Given the description of an element on the screen output the (x, y) to click on. 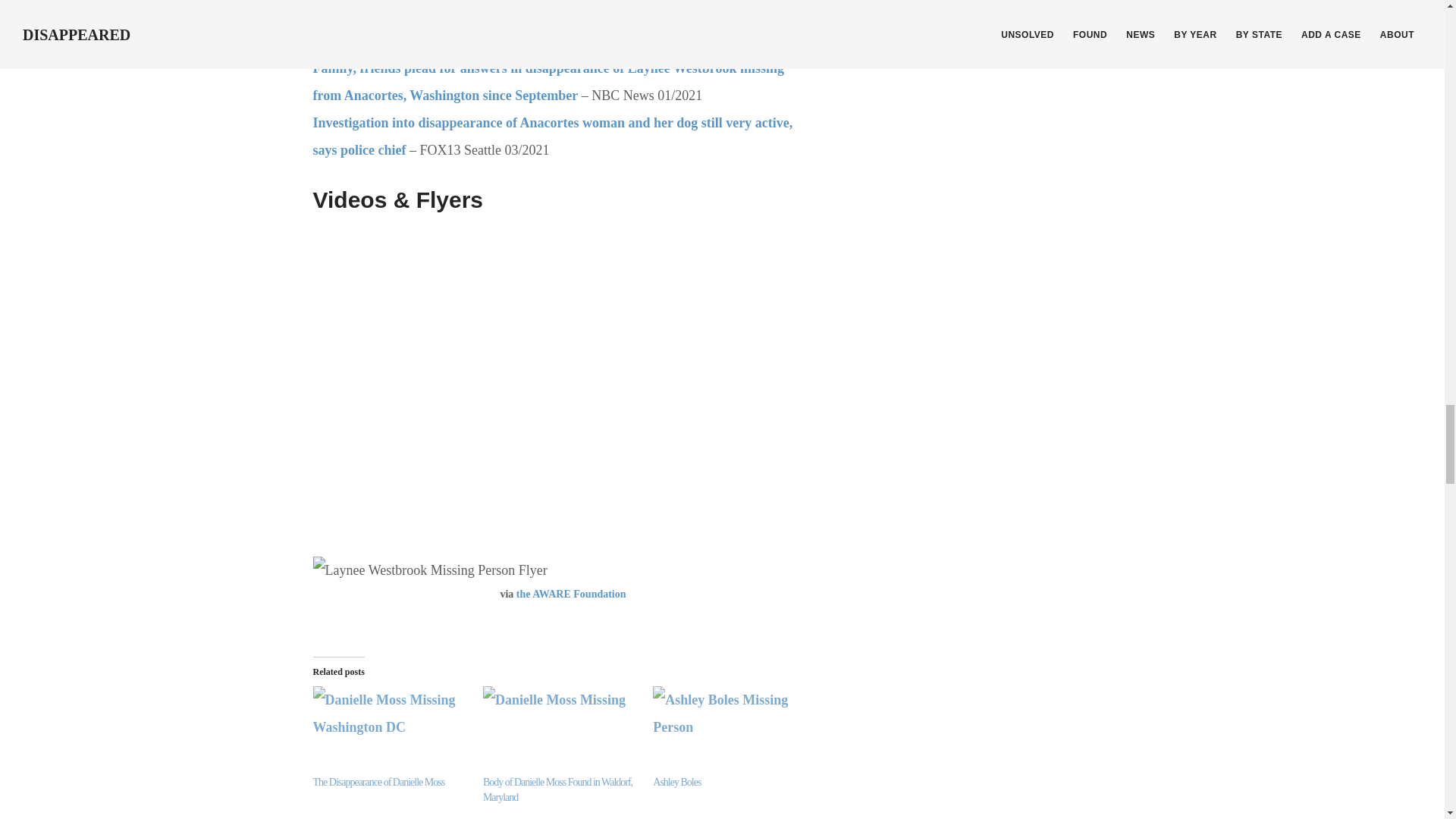
Body of Danielle Moss Found in Waldorf, Maryland (557, 789)
Family, friends join search for missing Anacortes woman (478, 40)
Body of Danielle Moss Found in Waldorf, Maryland (557, 789)
Ashley Boles (676, 781)
Ashley Boles (676, 781)
The Disappearance of Danielle Moss (390, 730)
Body of Danielle Moss Found in Waldorf, Maryland (560, 730)
The Disappearance of Danielle Moss (378, 781)
the AWARE Foundation (571, 593)
The Disappearance of Danielle Moss (378, 781)
Ashley Boles (730, 730)
